Given the description of an element on the screen output the (x, y) to click on. 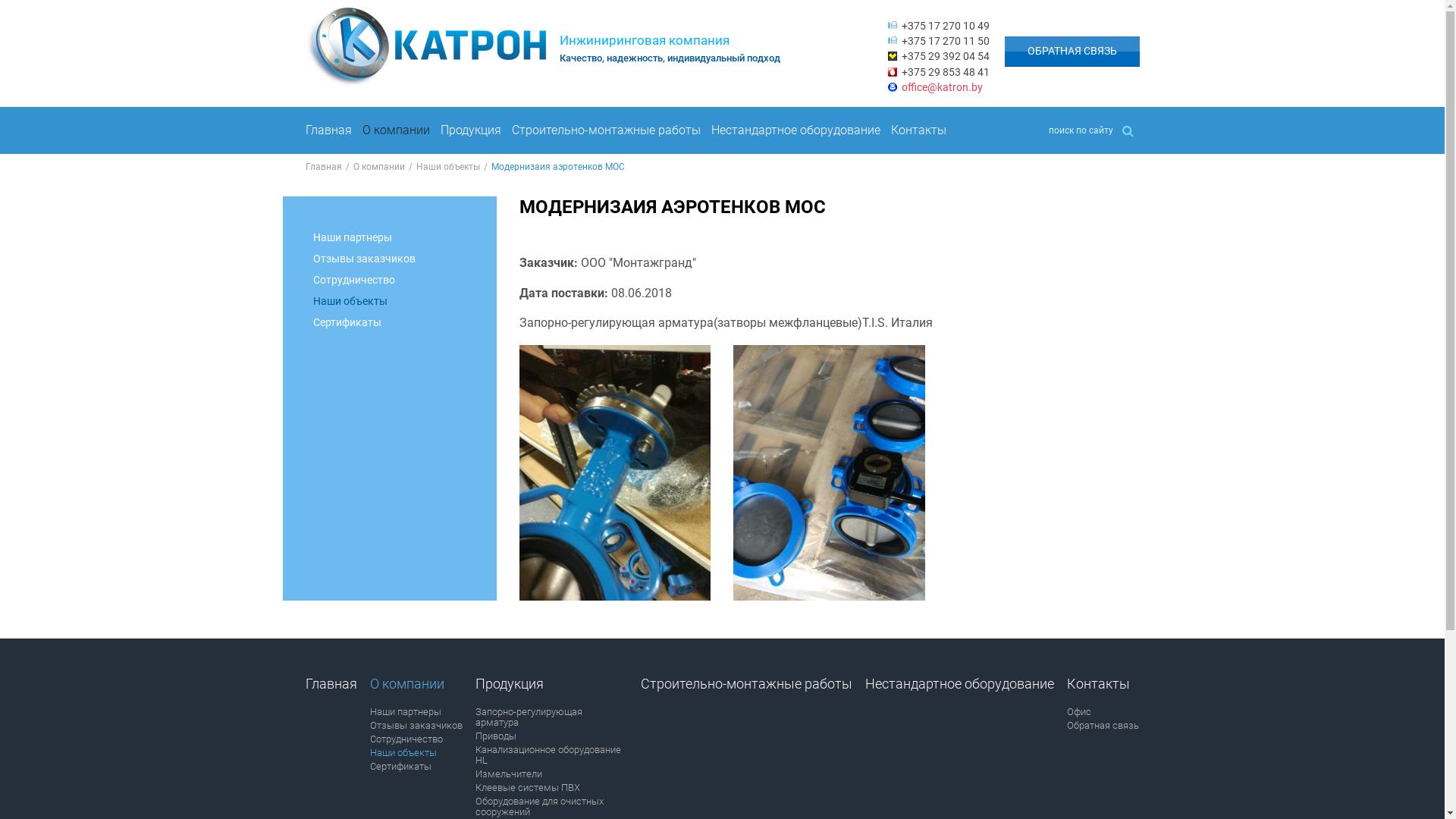
+375 29 392 04 54 Element type: text (944, 56)
+375 29 853 48 41 Element type: text (944, 71)
office@katron.by Element type: text (941, 87)
+375 17 270 11 50 Element type: text (944, 40)
+375 17 270 10 49 Element type: text (944, 25)
